Given the description of an element on the screen output the (x, y) to click on. 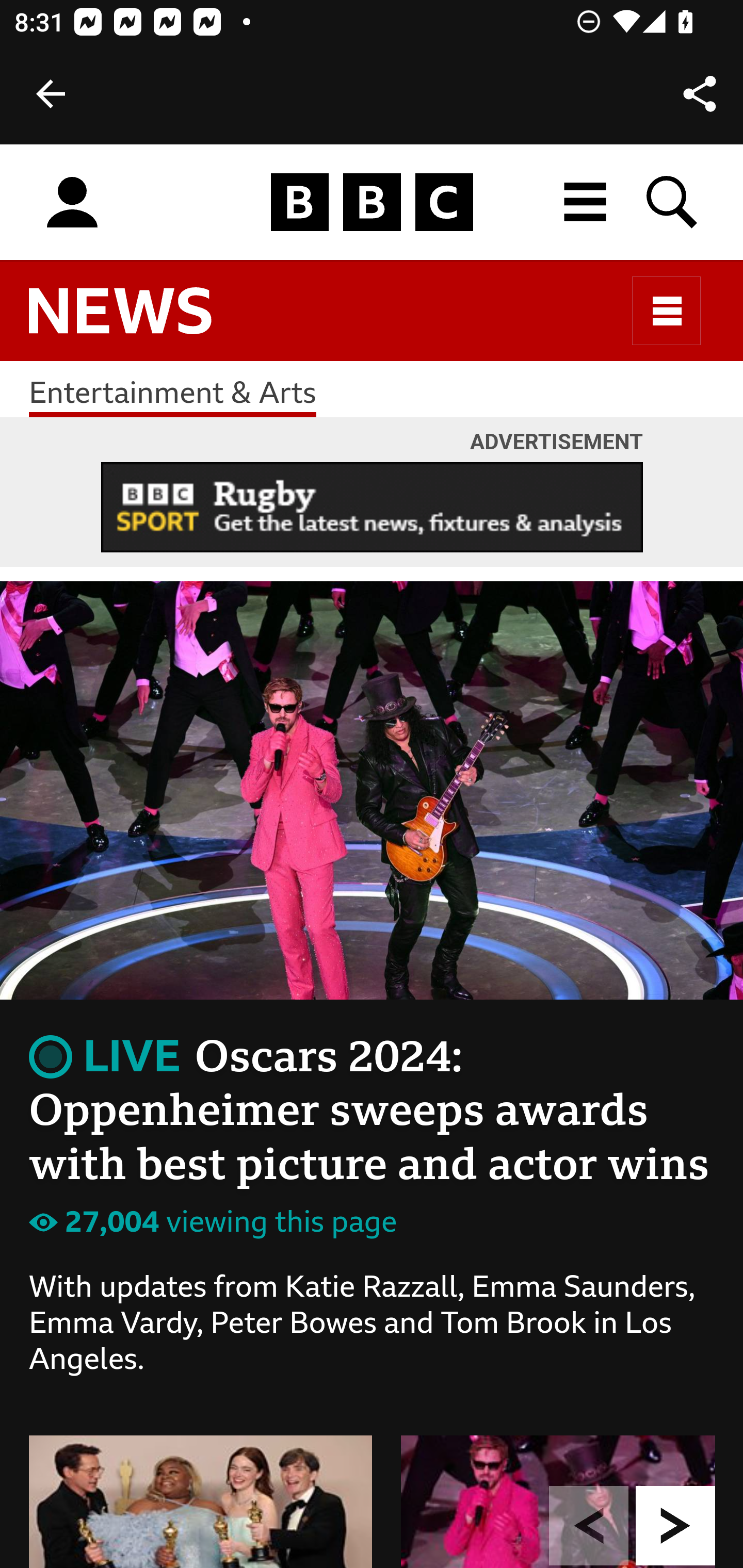
Back (50, 93)
Share (699, 93)
All BBC destinations menu (585, 202)
Search BBC (672, 202)
Sign in (71, 203)
Homepage (371, 203)
Sections (667, 310)
BBC News (136, 319)
previous (589, 1524)
next (676, 1524)
